Given the description of an element on the screen output the (x, y) to click on. 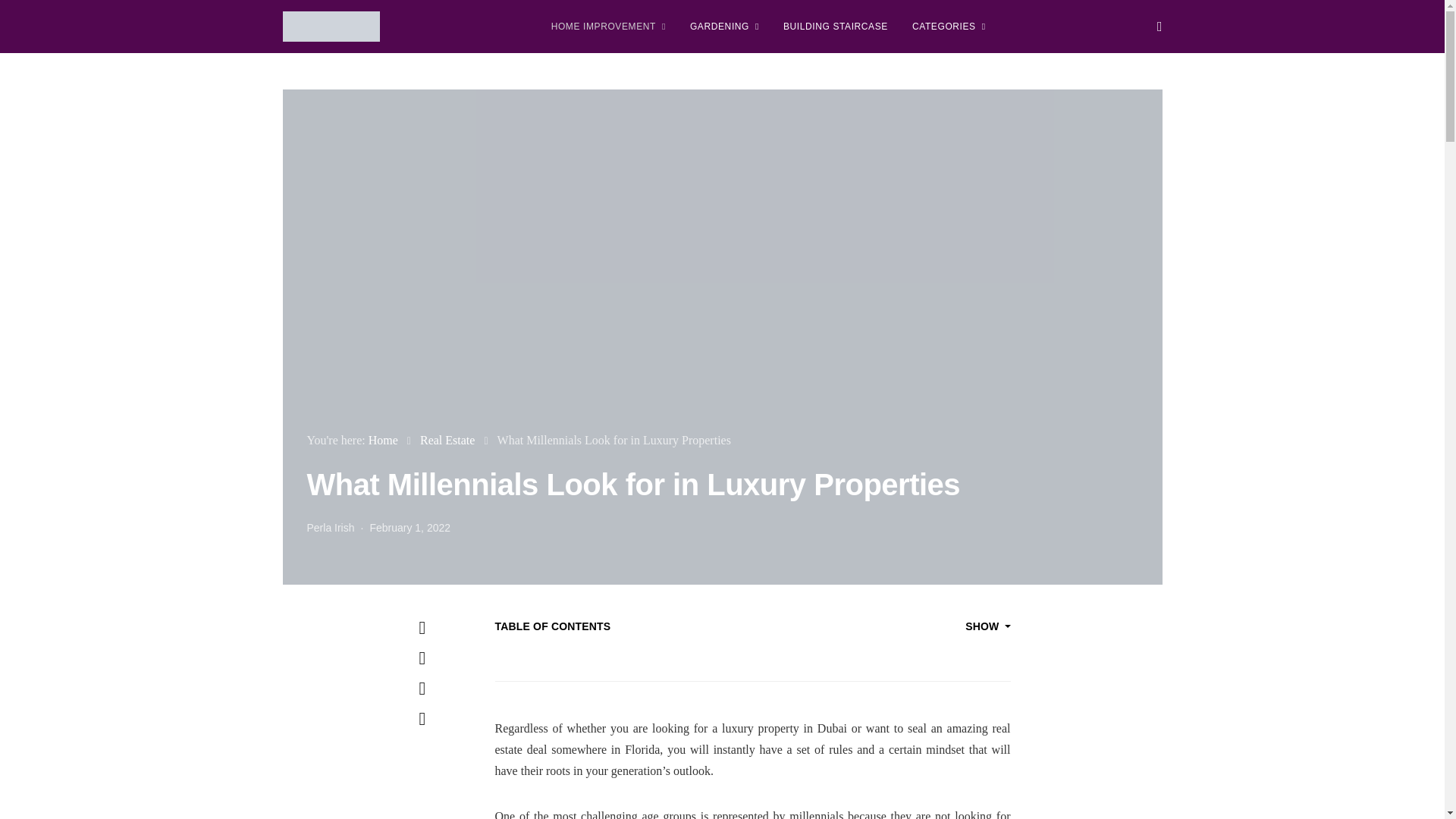
HOME IMPROVEMENT (608, 26)
View all posts by Perla Irish (329, 527)
